Given the description of an element on the screen output the (x, y) to click on. 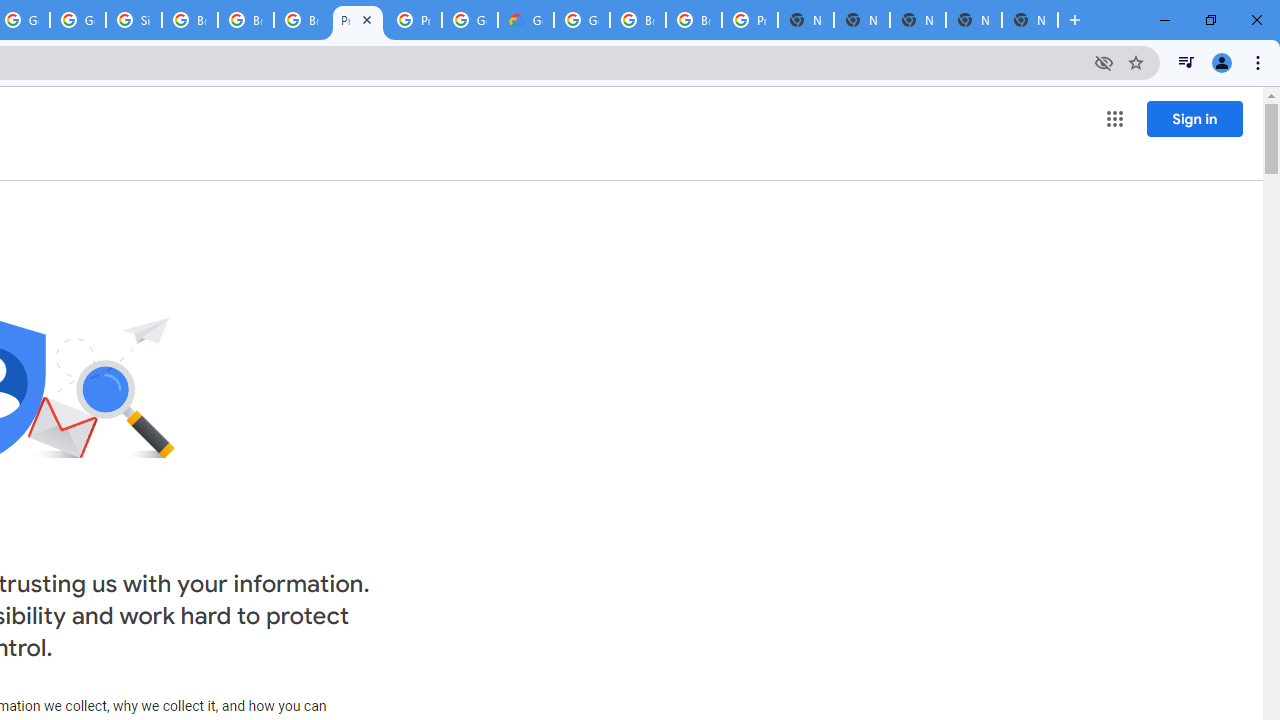
Sign in (1194, 118)
Third-party cookies blocked (1103, 62)
New Tab (806, 20)
Sign in - Google Accounts (134, 20)
Browse Chrome as a guest - Computer - Google Chrome Help (301, 20)
